Given the description of an element on the screen output the (x, y) to click on. 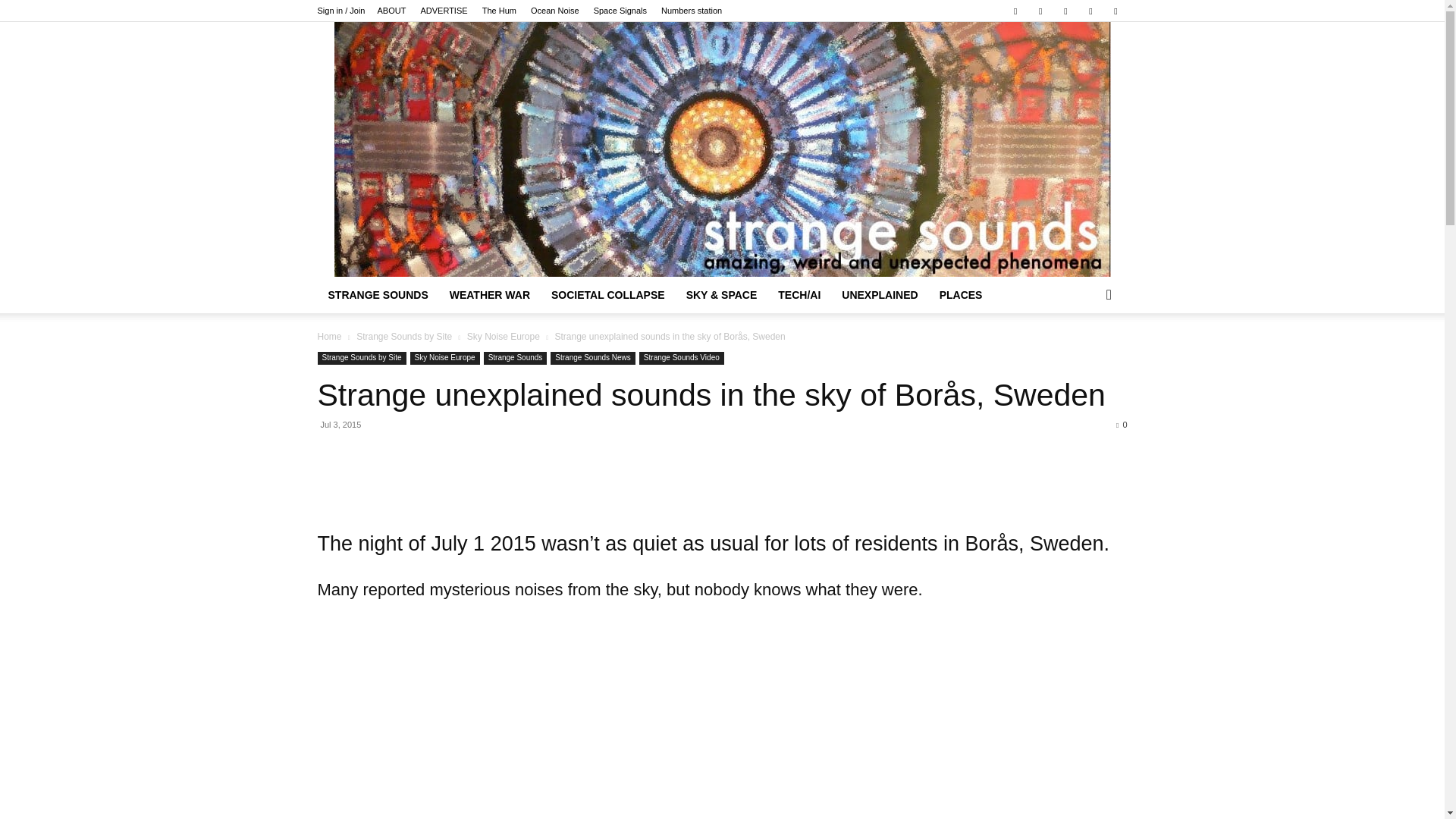
Numbers station (691, 10)
About Strange Sounds (391, 10)
Space Signals (620, 10)
The Hum mysterious phenomenon (498, 10)
Facebook (1015, 10)
ADVERTISE (443, 10)
Unexplained sounds of the deep ocean (555, 10)
ABOUT (391, 10)
